Given the description of an element on the screen output the (x, y) to click on. 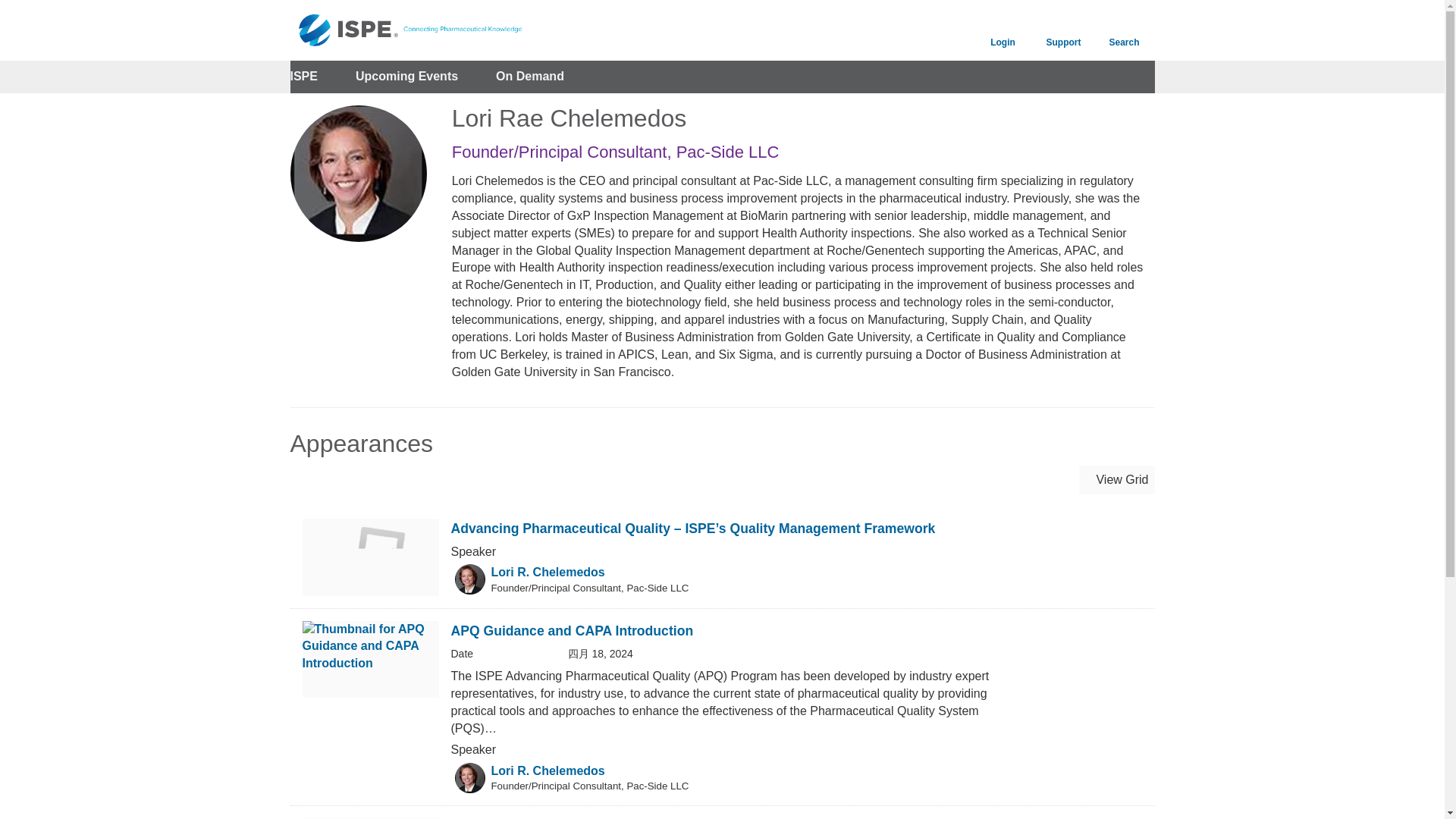
ISPE (303, 76)
Speaker Image for Lori Chelemedos (469, 777)
Support (1062, 30)
Lori R. Chelemedos (548, 770)
Login (1002, 30)
On Demand (530, 76)
Search (1123, 30)
Support (1062, 30)
Search (1123, 30)
APQ Guidance and CAPA Introduction (571, 630)
